Given the description of an element on the screen output the (x, y) to click on. 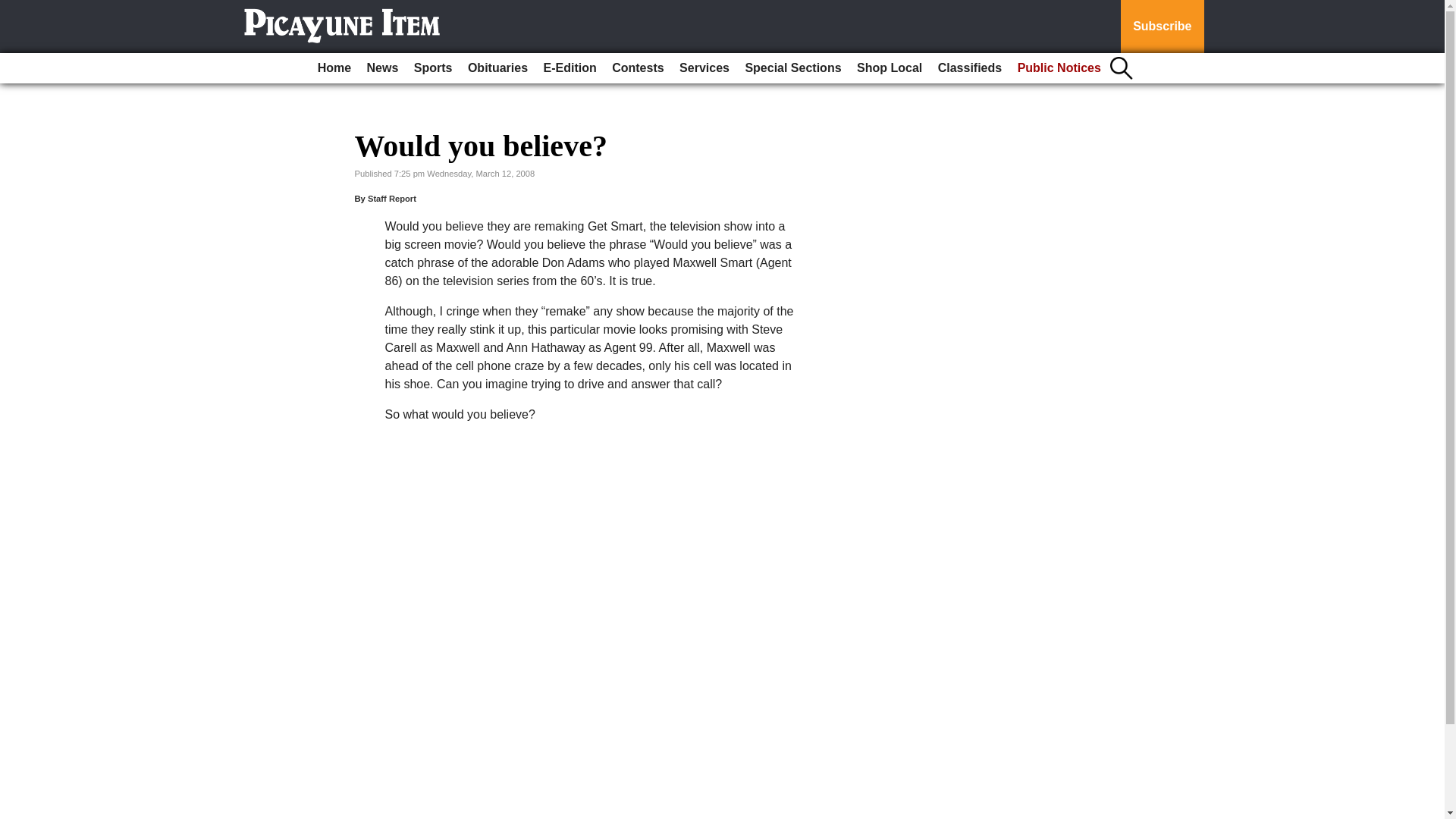
Classifieds (969, 68)
Special Sections (792, 68)
News (382, 68)
Contests (637, 68)
Subscribe (1162, 26)
Obituaries (497, 68)
Sports (432, 68)
Staff Report (392, 198)
Shop Local (889, 68)
Go (13, 9)
